Given the description of an element on the screen output the (x, y) to click on. 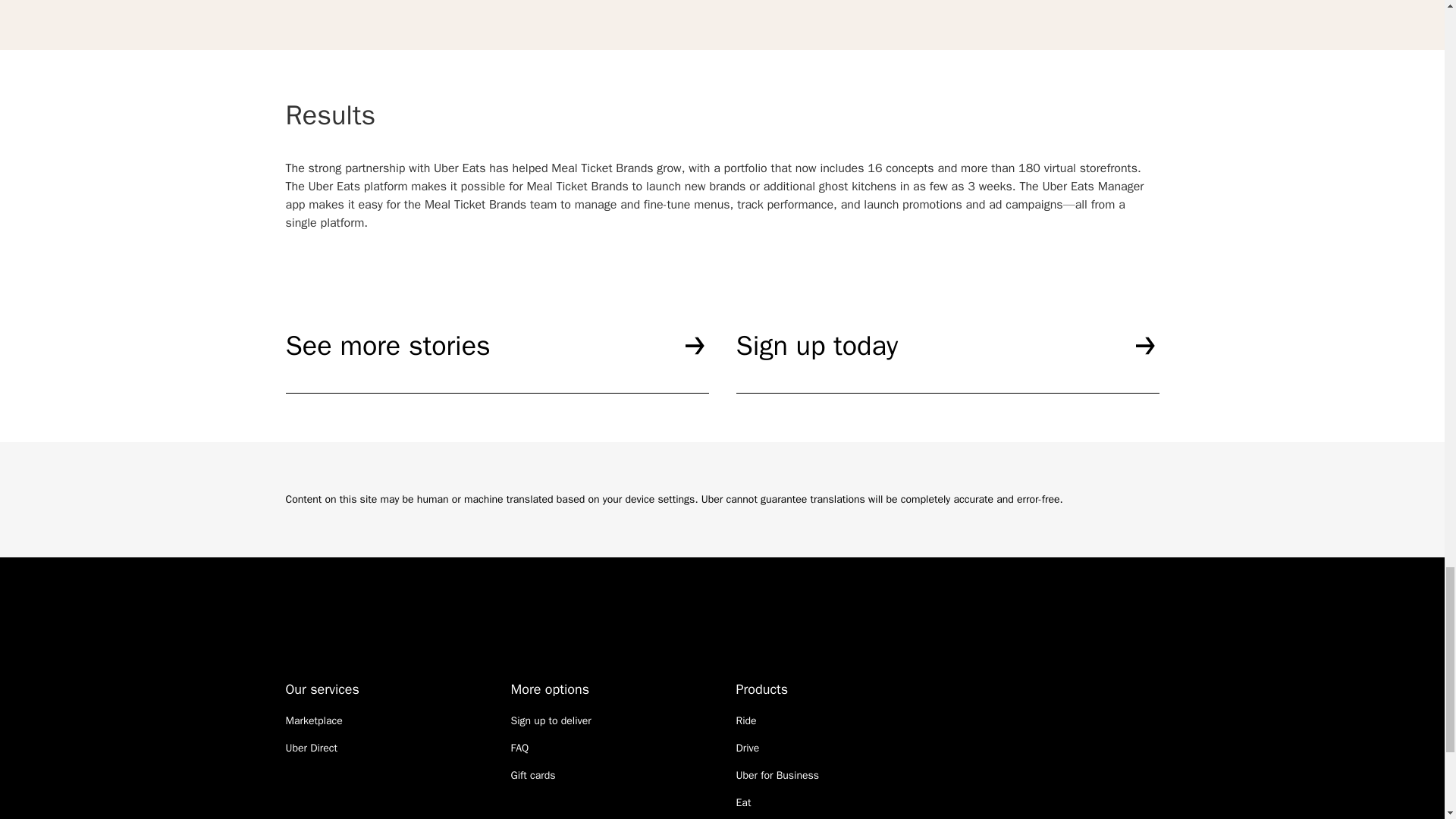
Gift cards (533, 774)
Eat (743, 801)
See more stories (496, 361)
Marketplace (313, 720)
Ride (745, 720)
Uber Direct (311, 747)
Uber for Business (776, 774)
FAQ (520, 747)
Sign up today (946, 361)
Drive (746, 747)
Sign up to deliver (551, 720)
